Given the description of an element on the screen output the (x, y) to click on. 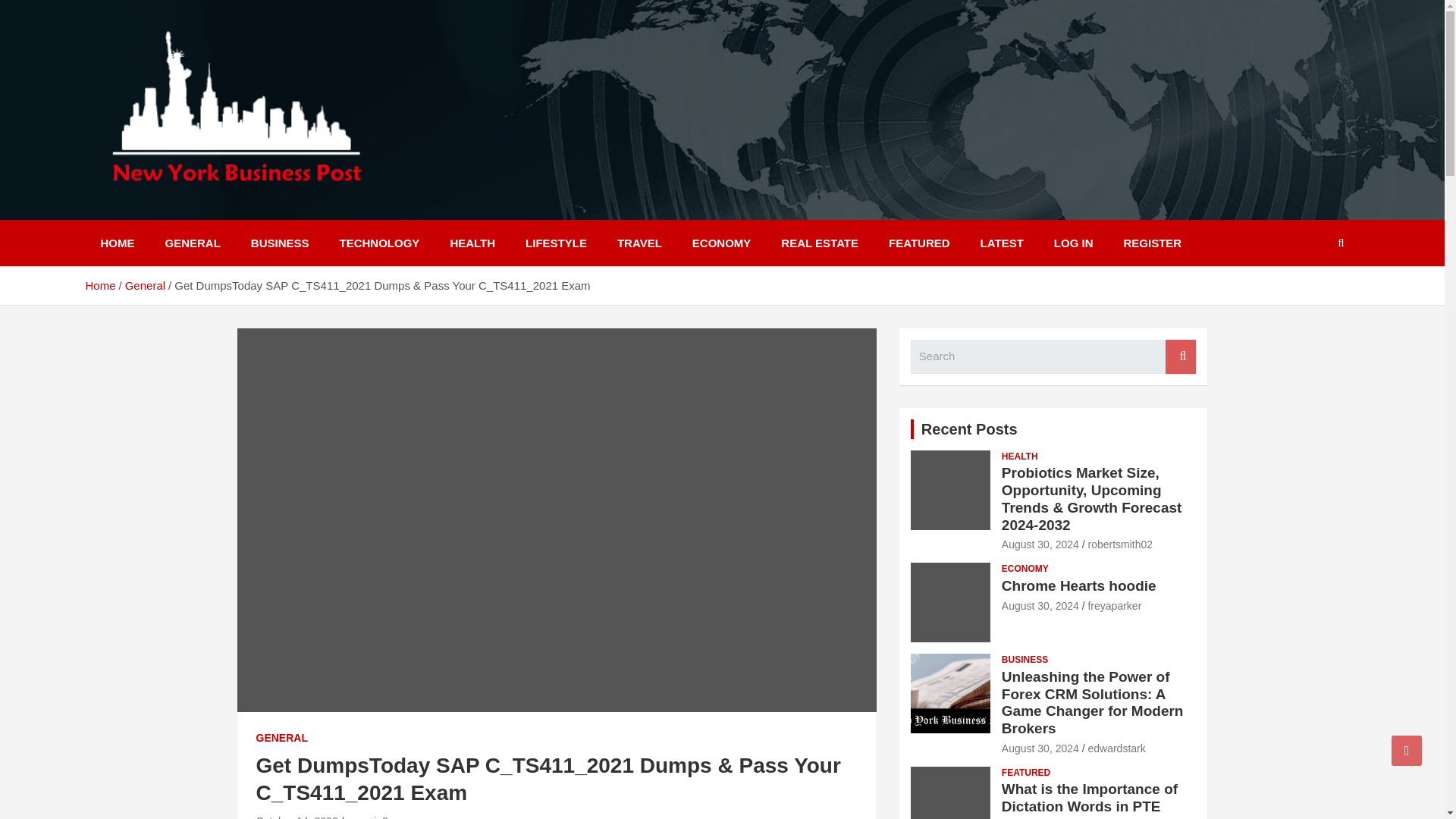
LOG IN (1073, 243)
GENERAL (281, 738)
TRAVEL (639, 243)
Home (99, 285)
HEALTH (472, 243)
FEATURED (919, 243)
Recent Posts (969, 428)
ECONOMY (722, 243)
Chrome Hearts hoodie (1039, 605)
